Given the description of an element on the screen output the (x, y) to click on. 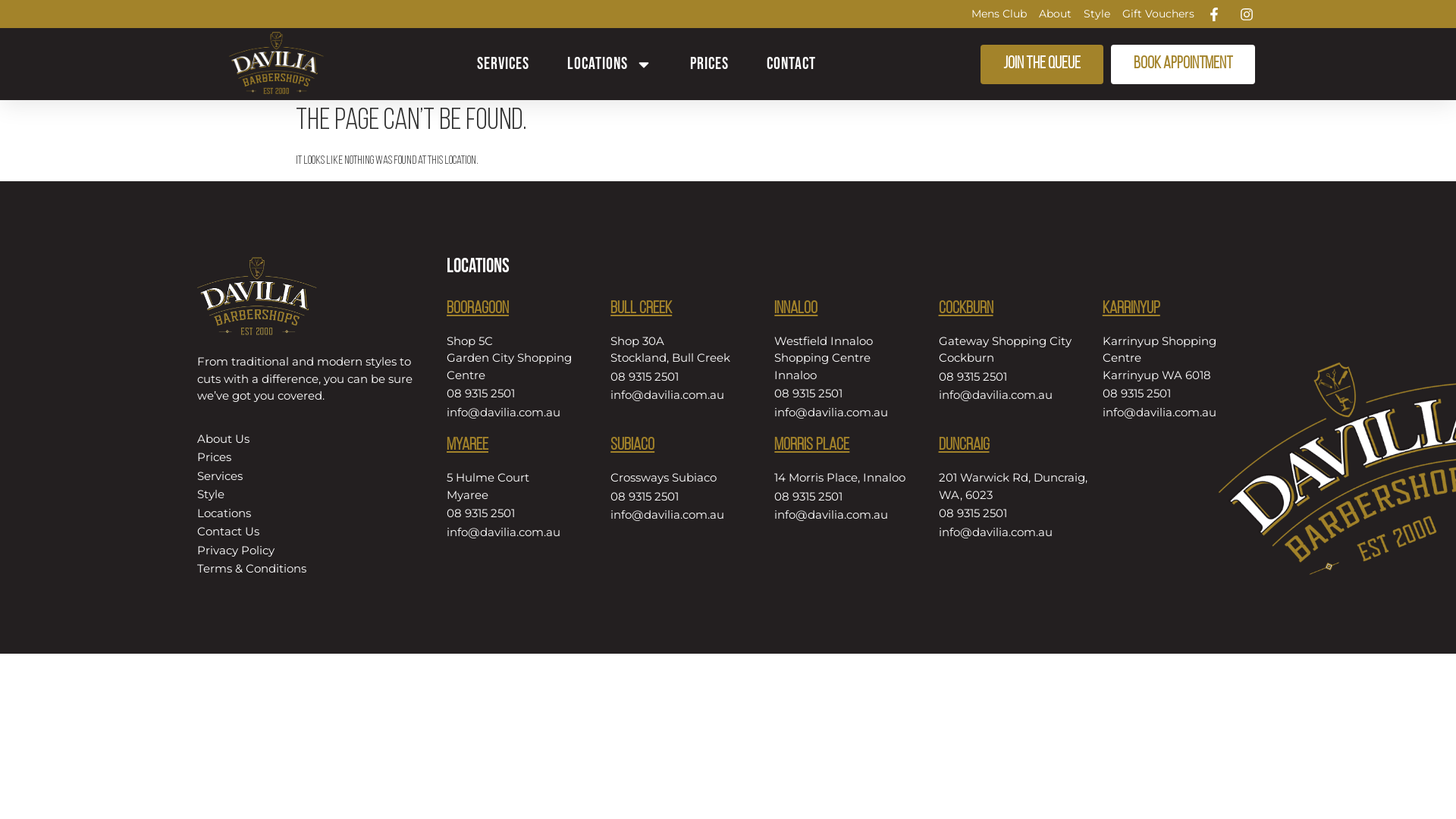
LOCATIONS Element type: text (609, 64)
08 9315 2501 Element type: text (684, 376)
08 9315 2501 Element type: text (1012, 376)
Locations Element type: text (306, 513)
08 9315 2501 Element type: text (1176, 393)
Style Element type: text (306, 494)
Services Element type: text (306, 476)
info@davilia.com.au Element type: text (1012, 532)
Prices Element type: text (306, 457)
08 9315 2501 Element type: text (848, 393)
COCKBURN Element type: text (965, 308)
info@davilia.com.au Element type: text (1012, 395)
Mens Club Element type: text (998, 13)
Contact Us Element type: text (306, 531)
08 9315 2501 Element type: text (520, 513)
info@davilia.com.au Element type: text (1176, 412)
08 9315 2501 Element type: text (848, 496)
info@davilia.com.au Element type: text (684, 395)
MYAREE Element type: text (467, 445)
info@davilia.com.au Element type: text (520, 532)
Terms & Conditions Element type: text (306, 568)
PRICES Element type: text (709, 64)
info@davilia.com.au Element type: text (684, 515)
08 9315 2501 Element type: text (684, 496)
Gift Vouchers Element type: text (1158, 13)
MORRIS PLACE Element type: text (811, 445)
Join The Queue Element type: text (1041, 64)
info@davilia.com.au Element type: text (848, 515)
Privacy Policy Element type: text (306, 550)
BULL CREEK Element type: text (640, 308)
info@davilia.com.au Element type: text (848, 412)
SUBIACO Element type: text (632, 445)
08 9315 2501 Element type: text (1012, 513)
Style Element type: text (1096, 13)
About Us Element type: text (306, 439)
BOORAGOON Element type: text (477, 308)
SERVICES Element type: text (503, 64)
Book Appointment Element type: text (1182, 64)
DUNCRAIG Element type: text (963, 445)
08 9315 2501 Element type: text (520, 393)
KARRINYUP Element type: text (1131, 308)
INNALOO Element type: text (795, 308)
CONTACT Element type: text (790, 64)
info@davilia.com.au Element type: text (520, 412)
About Element type: text (1054, 13)
